Given the description of an element on the screen output the (x, y) to click on. 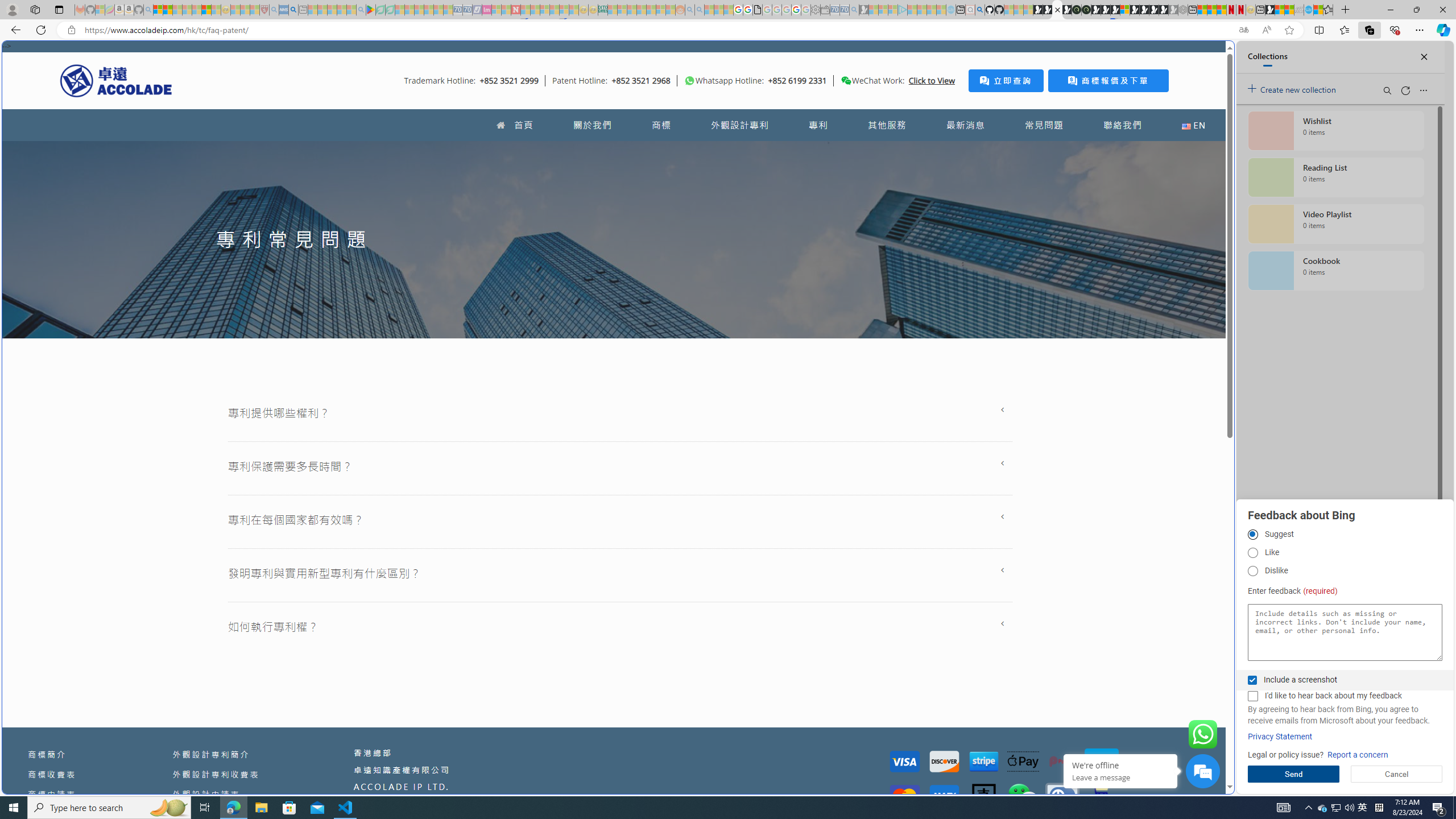
Terms of Use Agreement - Sleeping (380, 9)
Include a screenshot (1251, 679)
